Given the description of an element on the screen output the (x, y) to click on. 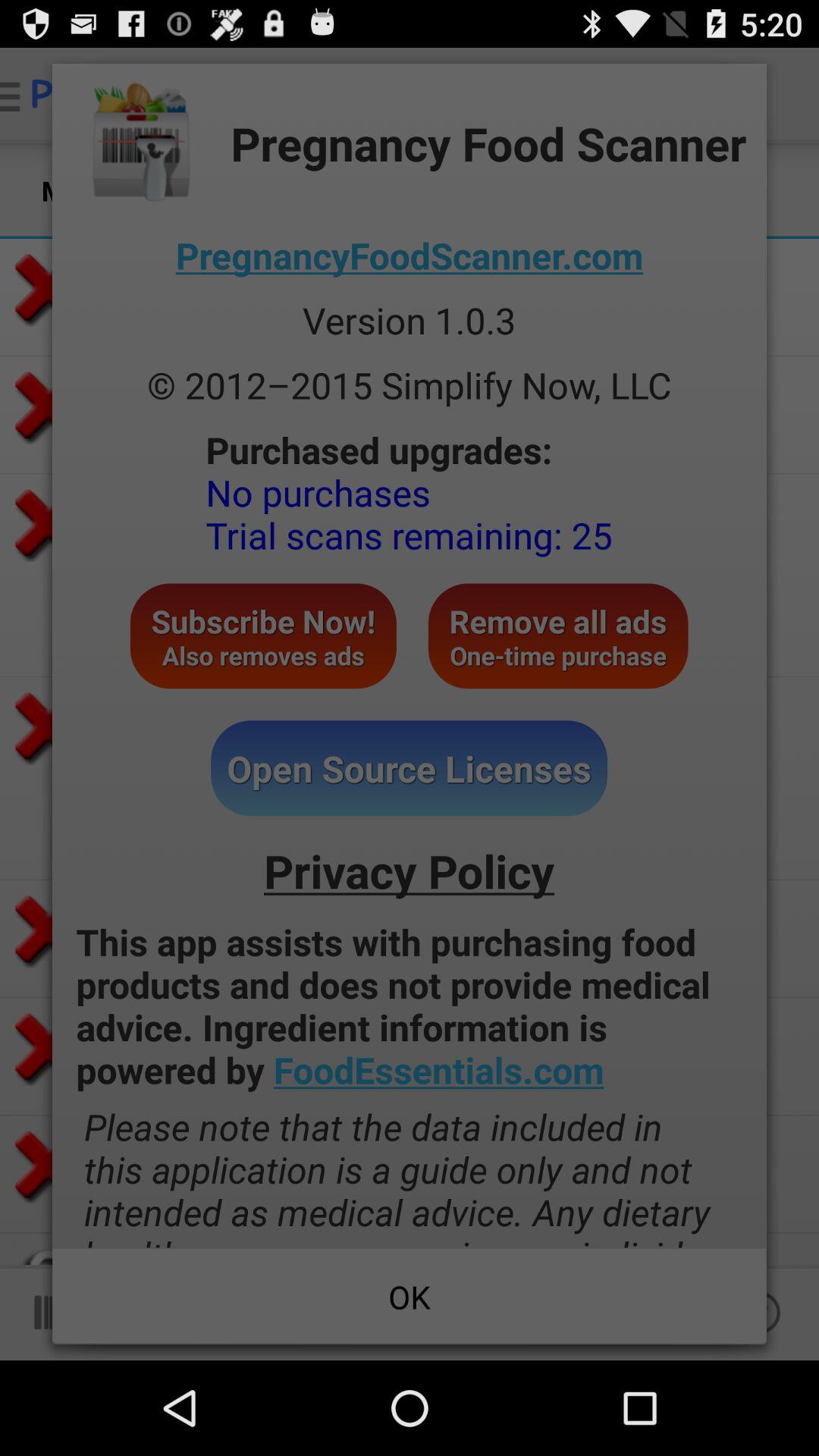
turn on button below the subscribe now also item (409, 768)
